Given the description of an element on the screen output the (x, y) to click on. 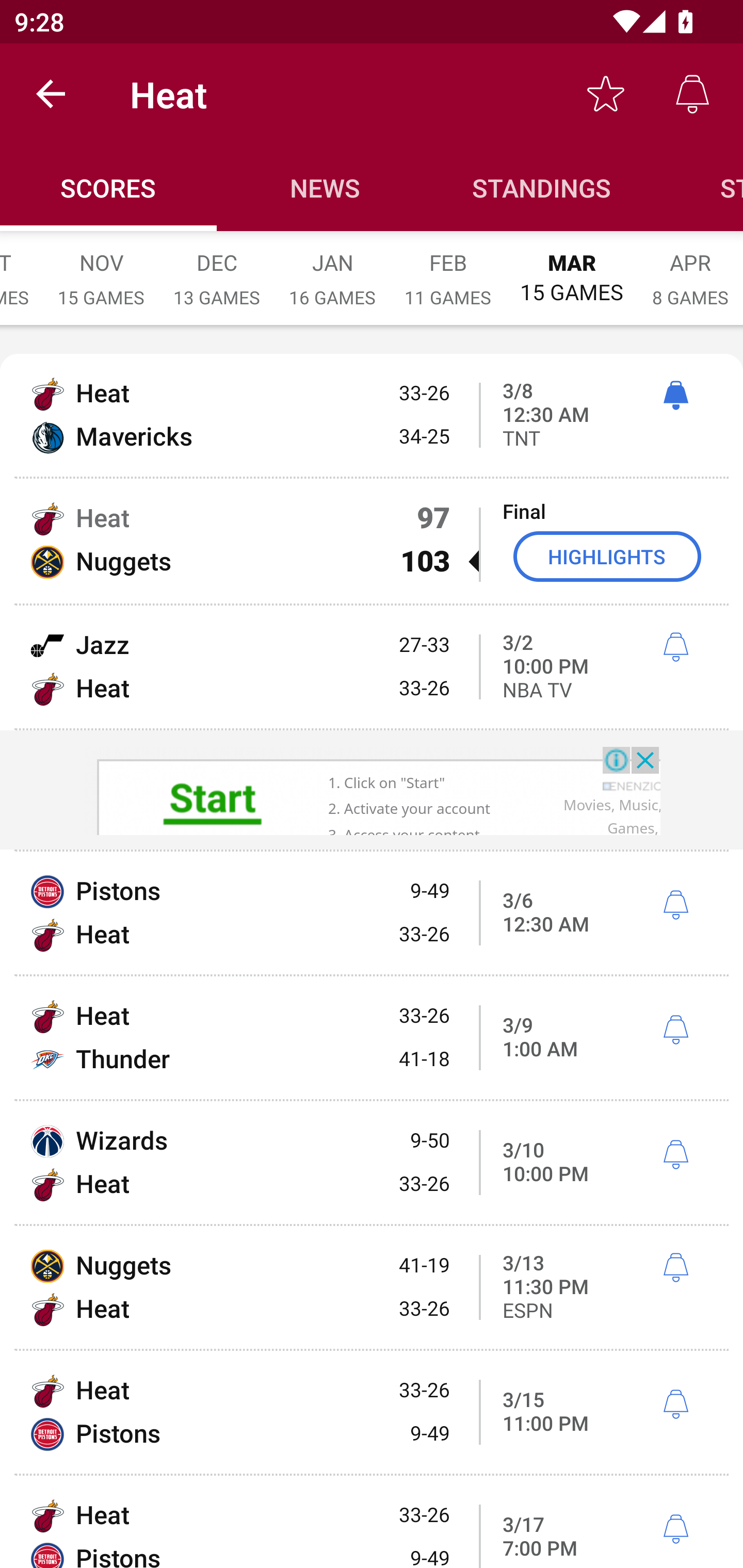
back.button (50, 93)
Favorite toggle (605, 93)
Alerts (692, 93)
News NEWS (324, 187)
Standings STANDINGS (541, 187)
NOV 15 GAMES (101, 268)
DEC 13 GAMES (216, 268)
JAN 16 GAMES (332, 268)
FEB 11 GAMES (447, 268)
MAR 15 GAMES (571, 267)
APR 8 GAMES (690, 268)
Heat 33-26 Mavericks 34-25 3/8 12:30 AM ì TNT (371, 415)
ì (675, 395)
Heat 97 Final Nuggets 103  HIGHLIGHTS (371, 540)
HIGHLIGHTS (607, 556)
Jazz 27-33 Heat 33-26 3/2 10:00 PM í NBA TV (371, 666)
í (675, 647)
Pistons 9-49 Heat 33-26 3/6 12:30 AM í (371, 912)
í (675, 905)
Heat 33-26 Thunder 41-18 3/9 1:00 AM í (371, 1037)
í (675, 1029)
Wizards 9-50 Heat 33-26 3/10 10:00 PM í (371, 1162)
í (675, 1154)
Nuggets 41-19 Heat 33-26 3/13 11:30 PM í ESPN (371, 1287)
í (675, 1267)
Heat 33-26 Pistons 9-49 3/15 11:00 PM í (371, 1412)
í (675, 1404)
Heat 33-26 Pistons 9-49 3/17 7:00 PM í (371, 1521)
í (675, 1529)
